Given the description of an element on the screen output the (x, y) to click on. 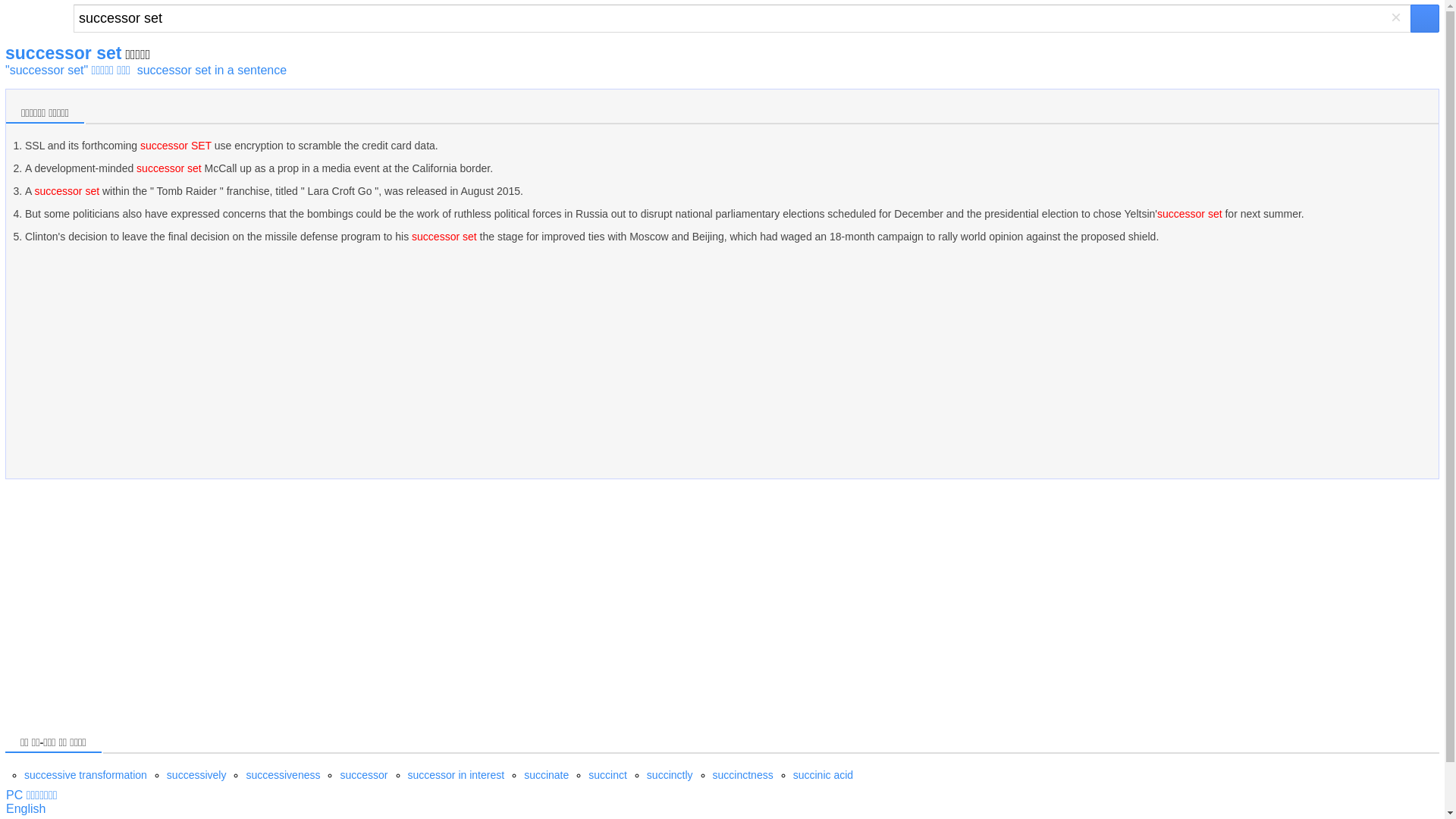
succinctly (669, 775)
succinct (607, 775)
successor set in Hindi (25, 808)
successor set (742, 17)
Search (742, 17)
successor set in a sentence (211, 69)
successively (197, 775)
successiveness (283, 775)
succinate (546, 775)
successor (363, 775)
successive transformation (85, 775)
succinic acid (823, 775)
successor in interest (456, 775)
English (25, 808)
succinctness (743, 775)
